Given the description of an element on the screen output the (x, y) to click on. 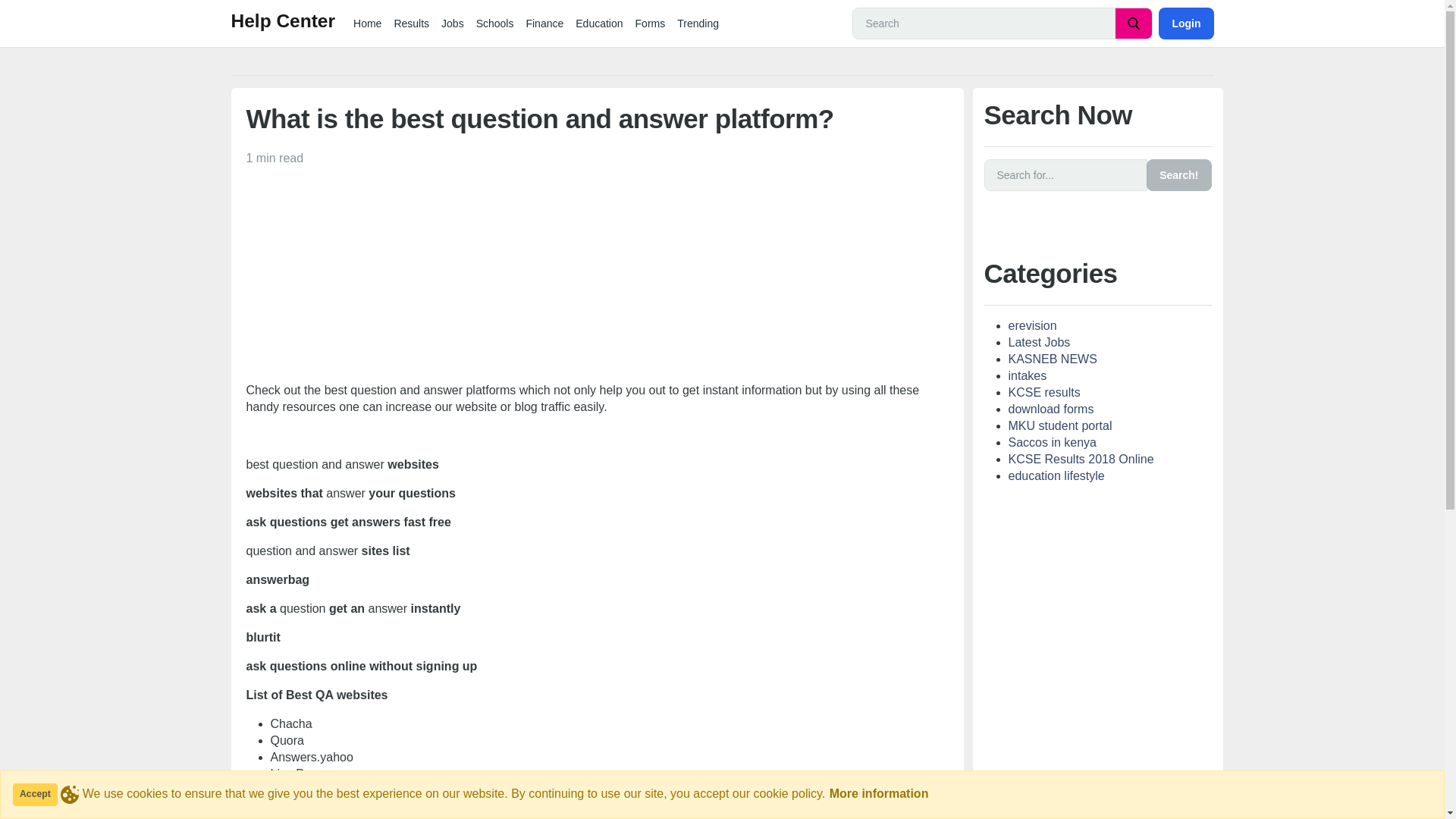
KASNEB NEWS (1053, 358)
Trending (698, 23)
Home (367, 23)
Jobs (452, 23)
intakes (1027, 375)
Search! (1179, 174)
Help Center (282, 23)
download forms (1051, 408)
Login (1185, 23)
More information (879, 793)
KCSE Results 2018 Online (1081, 459)
erevision (1033, 325)
Accept (35, 793)
Schools (494, 23)
